Given the description of an element on the screen output the (x, y) to click on. 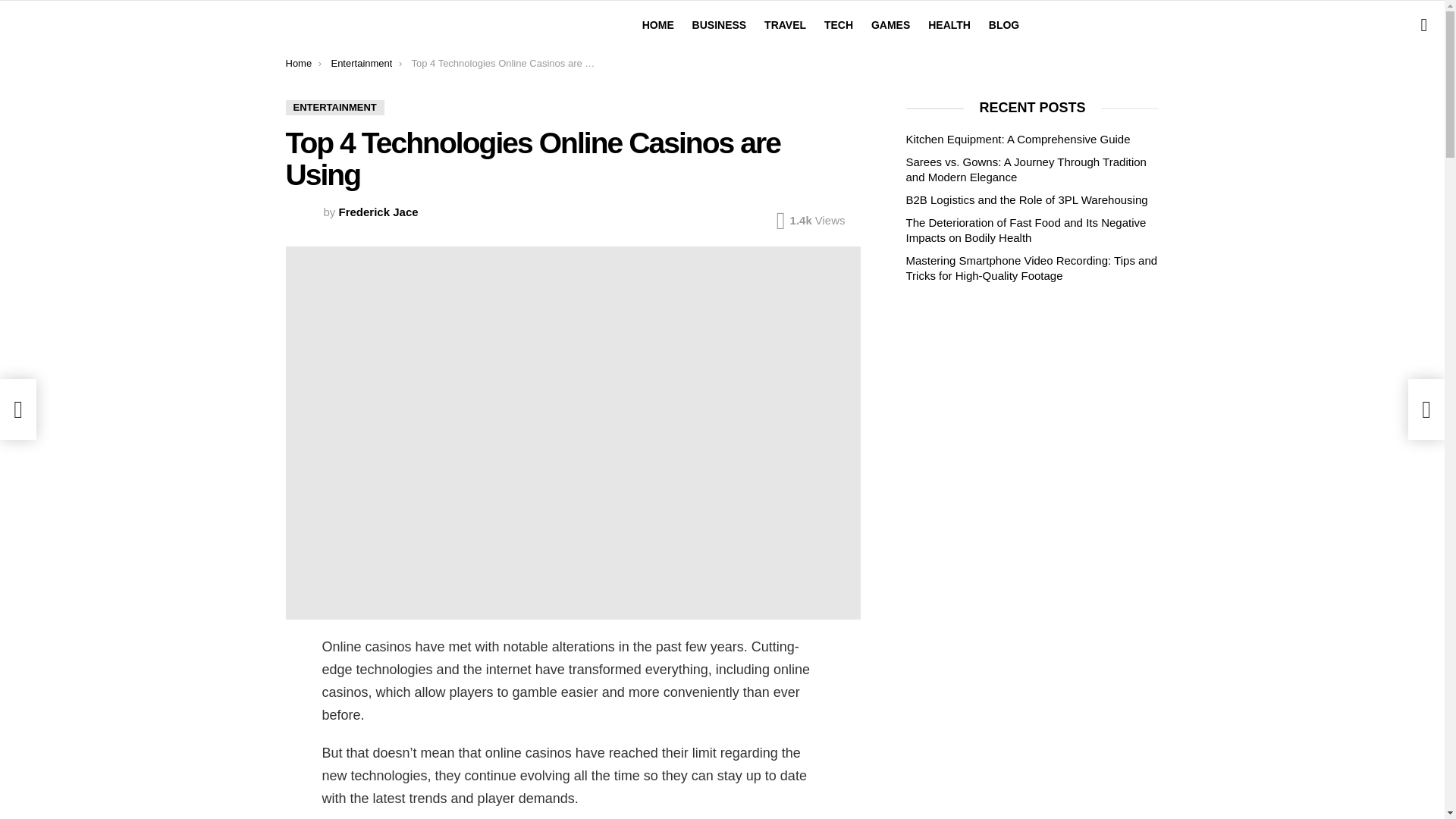
Frederick Jace (379, 211)
TECH (838, 24)
BUSINESS (719, 24)
GAMES (890, 24)
Home (298, 62)
HOME (657, 24)
Entertainment (360, 62)
TRAVEL (785, 24)
BLOG (1003, 24)
Posts by Frederick Jace (379, 211)
ENTERTAINMENT (334, 107)
HEALTH (949, 24)
